Given the description of an element on the screen output the (x, y) to click on. 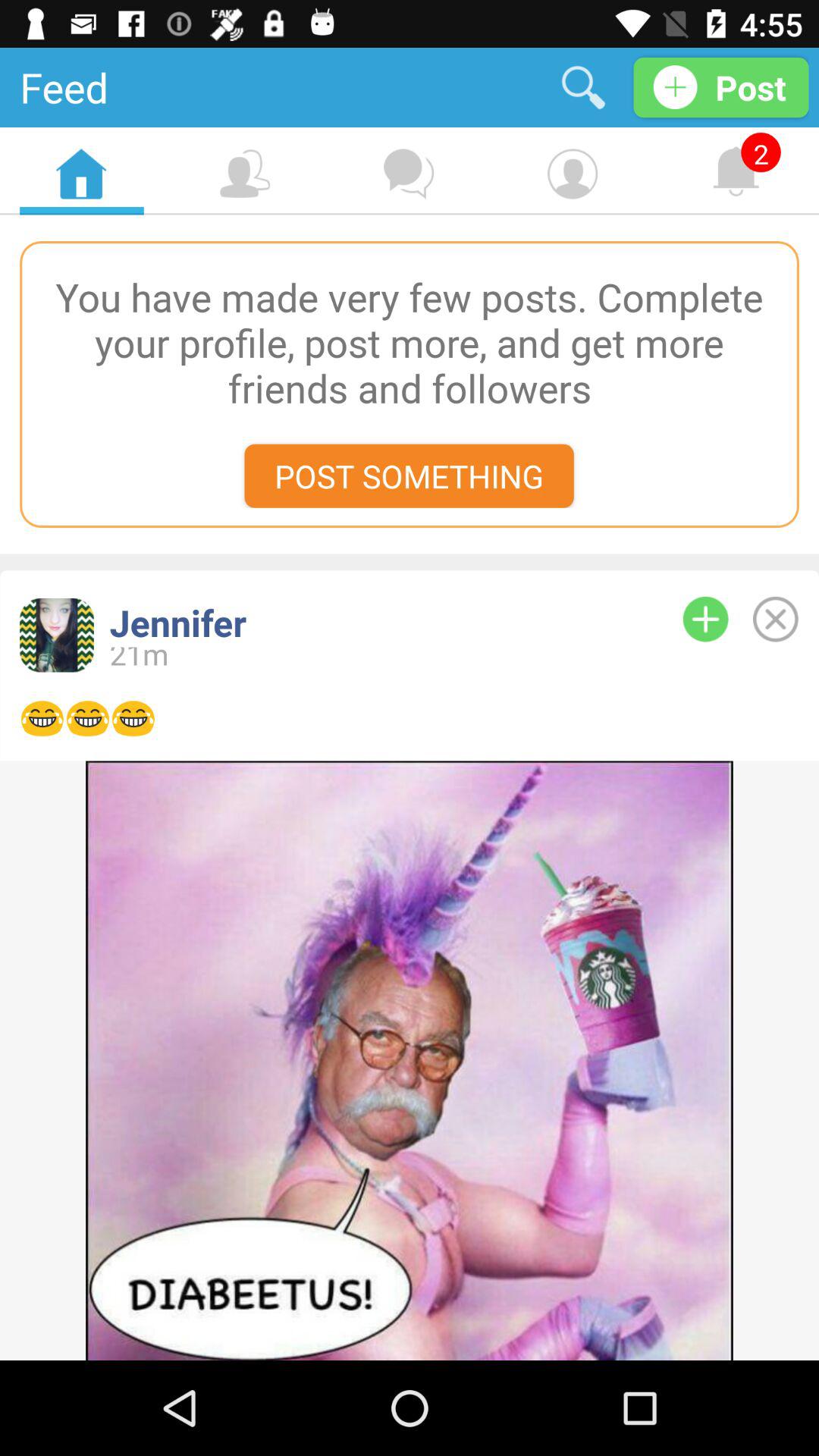
swipe until jennifer (371, 622)
